Given the description of an element on the screen output the (x, y) to click on. 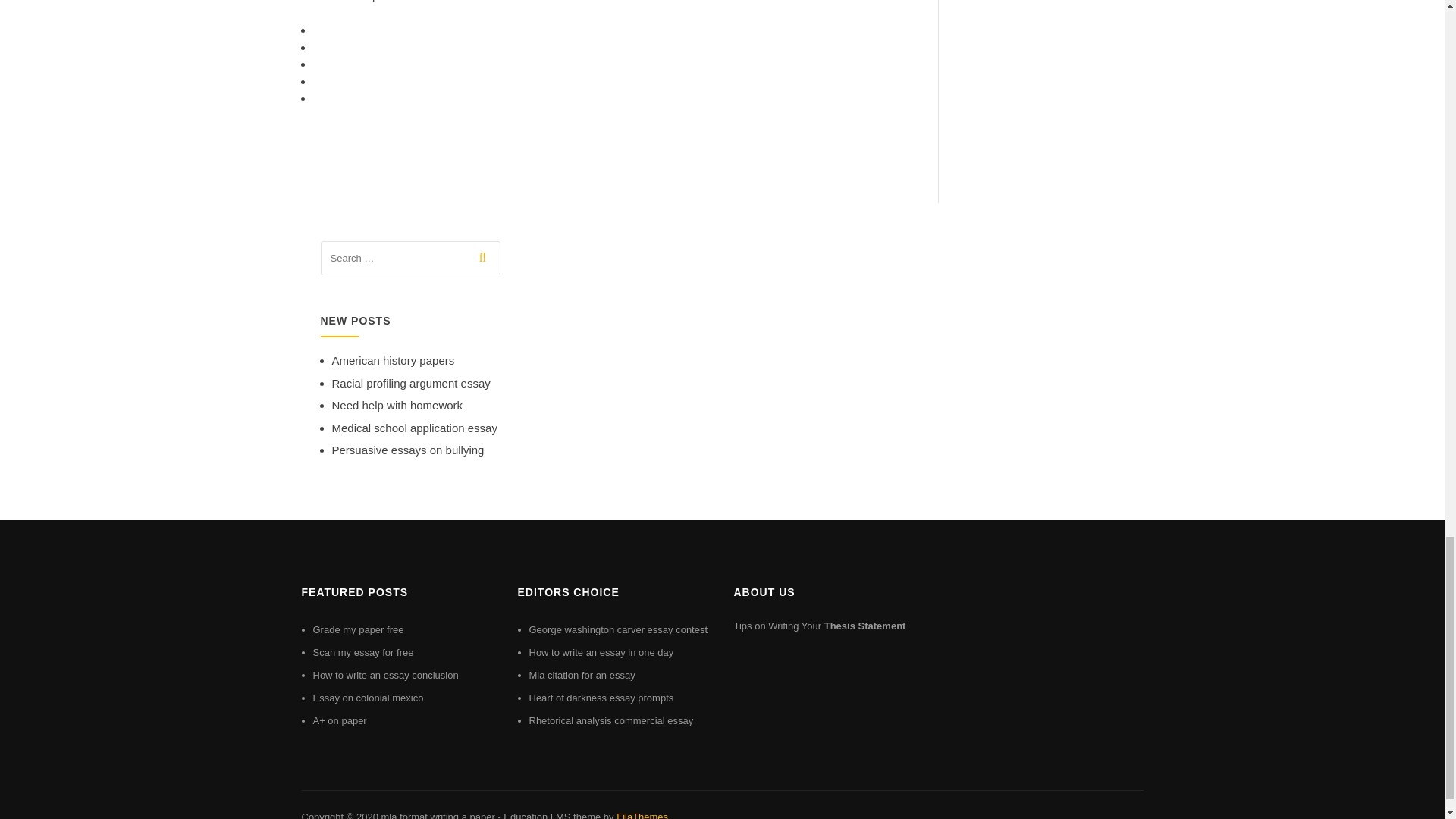
Heart of darkness essay prompts (601, 697)
Racial profiling argument essay (410, 382)
How to write an essay conclusion (385, 674)
American history papers (392, 359)
Need help with homework (397, 404)
George washington carver essay contest (618, 629)
Persuasive essays on bullying (407, 449)
Medical school application essay (414, 427)
Mla citation for an essay (581, 674)
mla format writing a paper (437, 815)
Essay on colonial mexico (368, 697)
Rhetorical analysis commercial essay (611, 720)
How to write an essay in one day (601, 652)
Scan my essay for free (363, 652)
mla format writing a paper (437, 815)
